Given the description of an element on the screen output the (x, y) to click on. 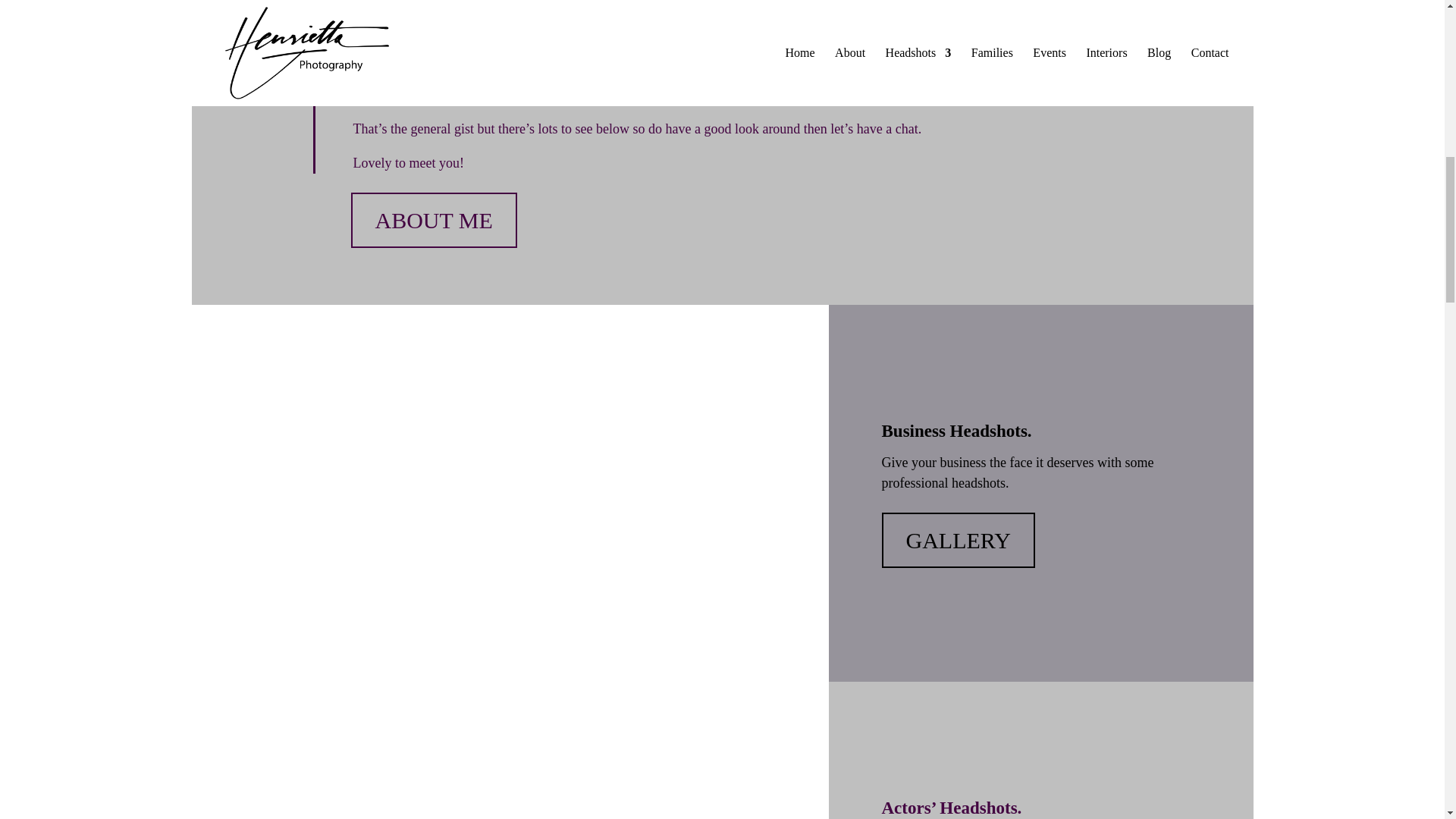
GALLERY (956, 540)
ABOUT ME (433, 220)
